Given the description of an element on the screen output the (x, y) to click on. 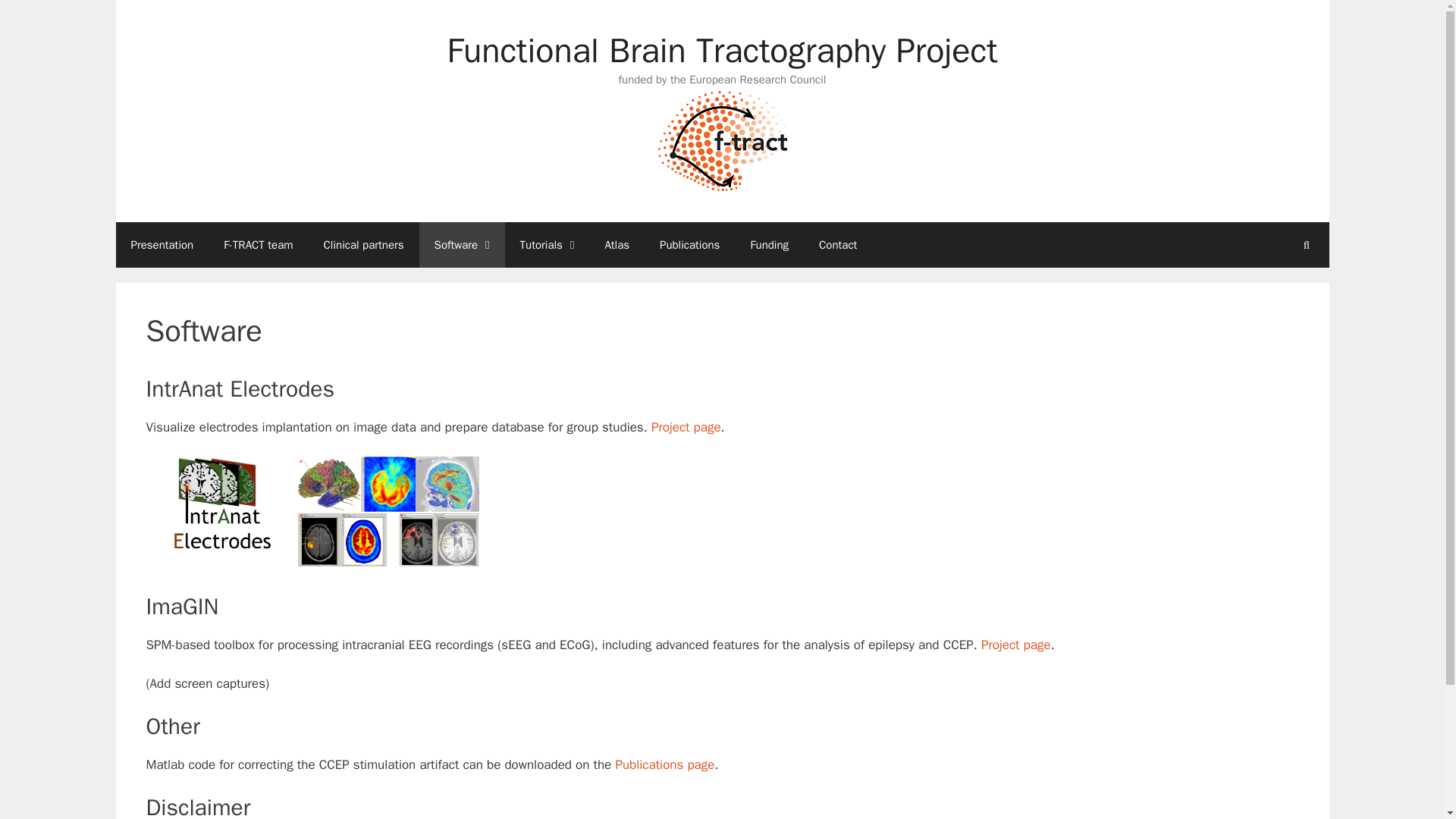
Functional Brain Tractography Project (722, 138)
Search (1305, 243)
Functional Brain Tractography Project (722, 139)
Tutorials (547, 243)
Funding (769, 243)
Publications (690, 243)
Functional Brain Tractography Project (721, 50)
Project page (1016, 644)
Publications page (664, 764)
Contact (837, 243)
Clinical partners (363, 243)
Atlas (617, 243)
Search (1305, 243)
